Given the description of an element on the screen output the (x, y) to click on. 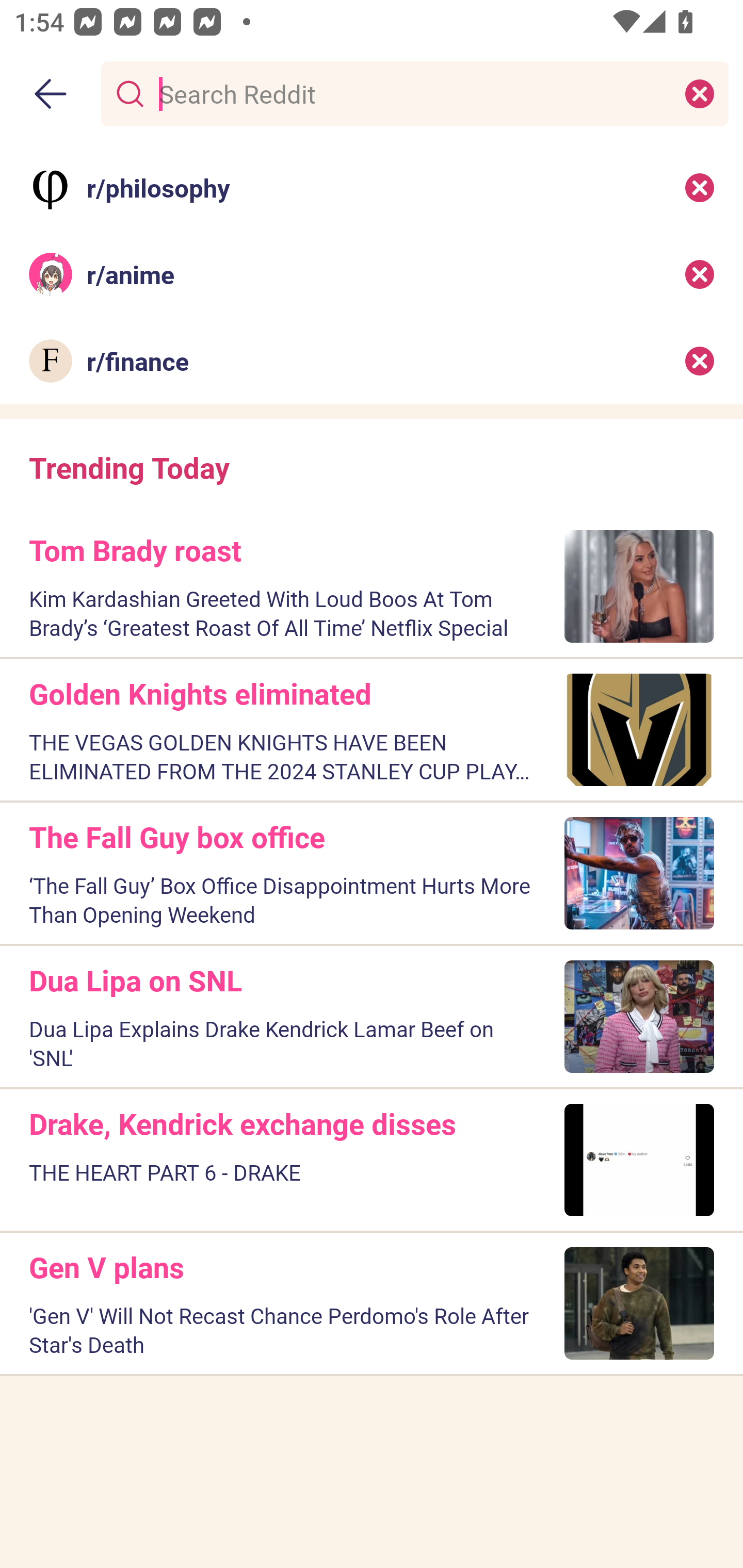
Back (50, 93)
Search Reddit (410, 93)
Clear search (699, 93)
r/philosophy Recent search: r/philosophy Remove (371, 187)
Remove (699, 187)
r/anime Recent search: r/anime Remove (371, 274)
Remove (699, 274)
r/finance Recent search: r/finance Remove (371, 361)
Remove (699, 361)
